Given the description of an element on the screen output the (x, y) to click on. 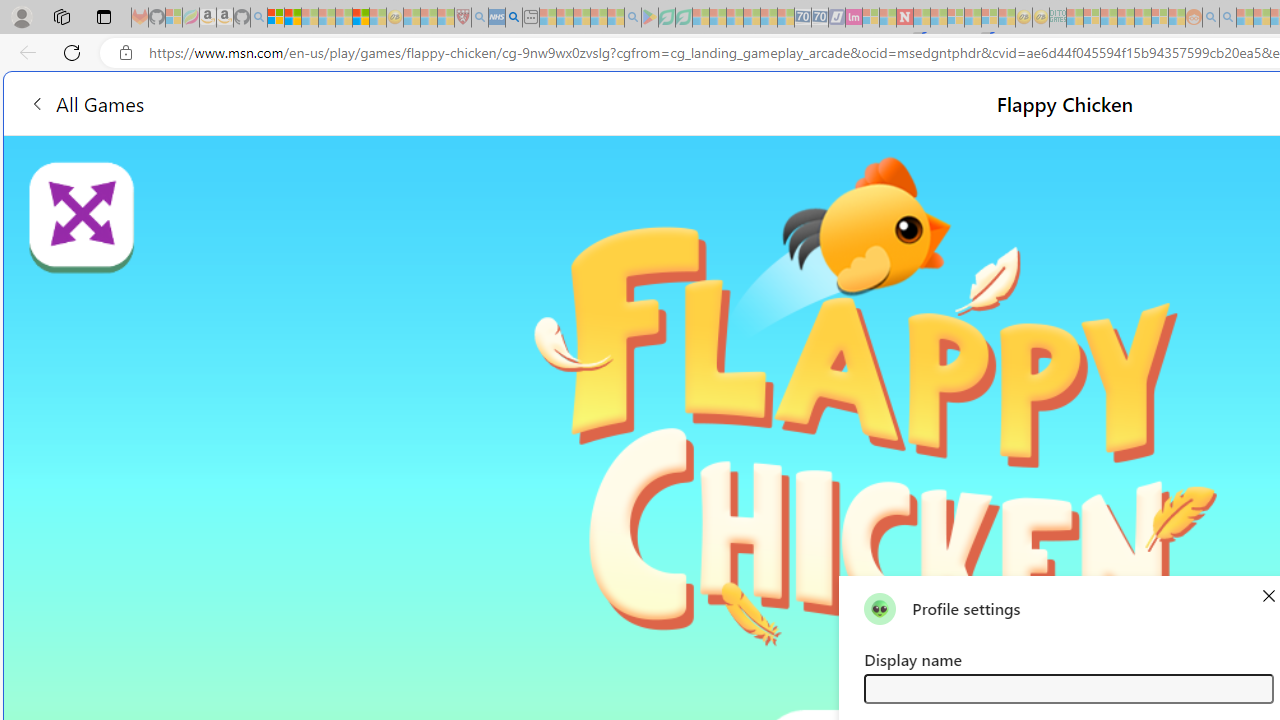
google - Search - Sleeping (632, 17)
utah sues federal government - Search (513, 17)
Utah sues federal government - Search - Sleeping (1227, 17)
Kinda Frugal - MSN - Sleeping (1142, 17)
Latest Politics News & Archive | Newsweek.com - Sleeping (904, 17)
